Given the description of an element on the screen output the (x, y) to click on. 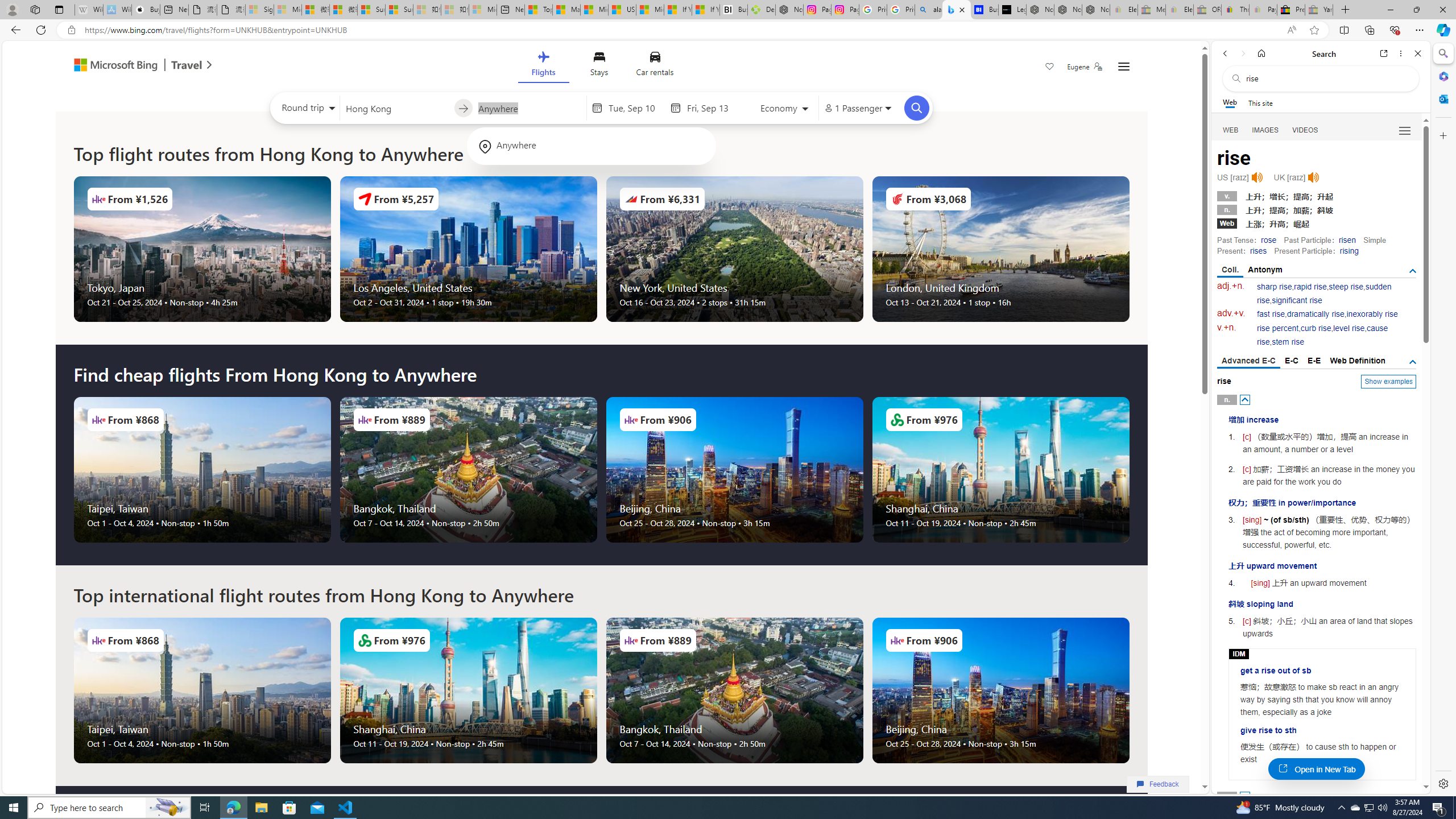
curb rise (1315, 328)
rise percent (1277, 328)
1 Passenger (857, 108)
Coll. (1230, 270)
Class: msft-travel-logo (186, 64)
